Given the description of an element on the screen output the (x, y) to click on. 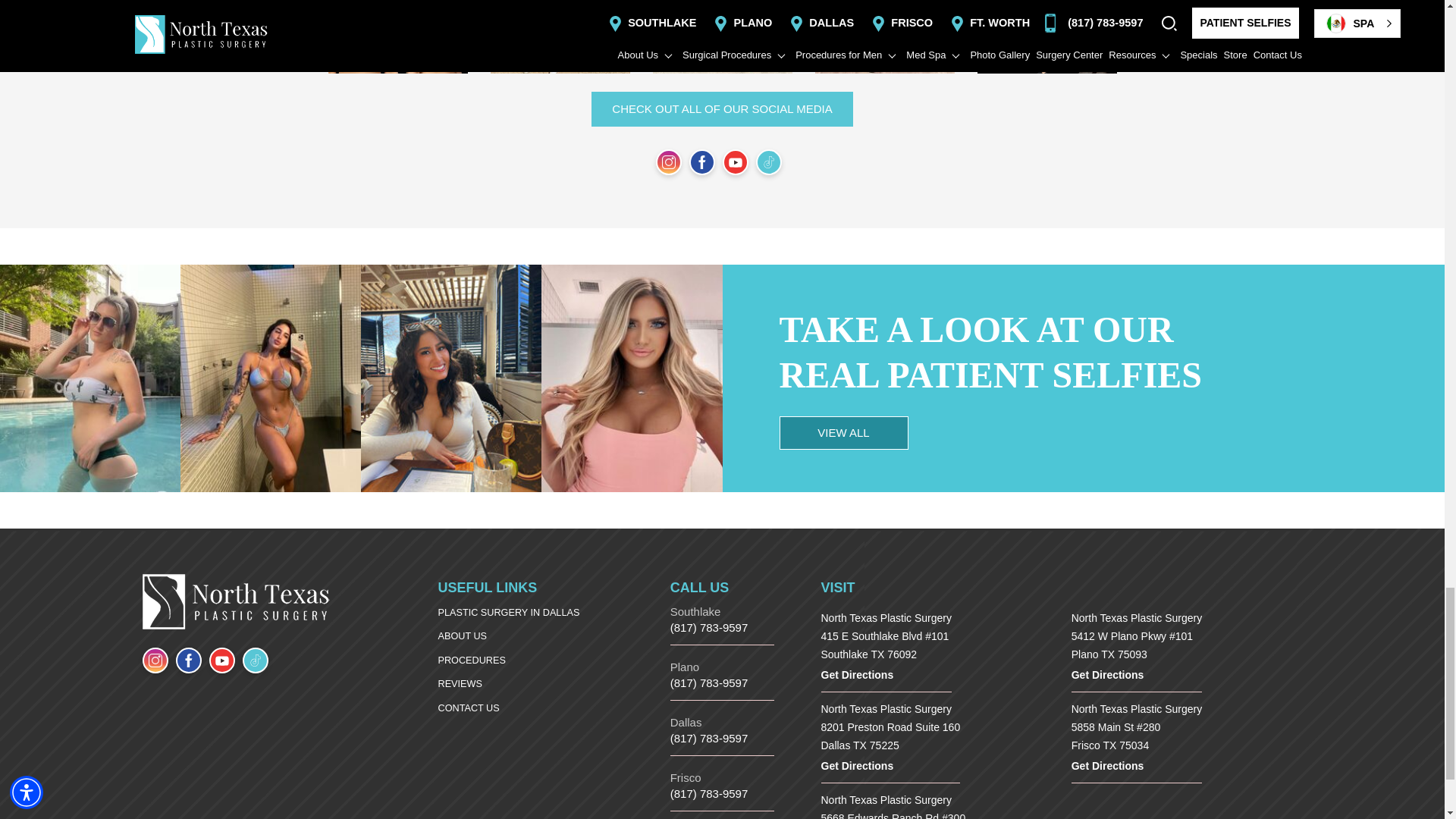
Facebook (701, 162)
Facebook (189, 660)
Youtube (221, 660)
Youtube (735, 162)
Instagram (155, 660)
Tiktok (255, 660)
Instagram (668, 162)
Tiktok (767, 162)
